Given the description of an element on the screen output the (x, y) to click on. 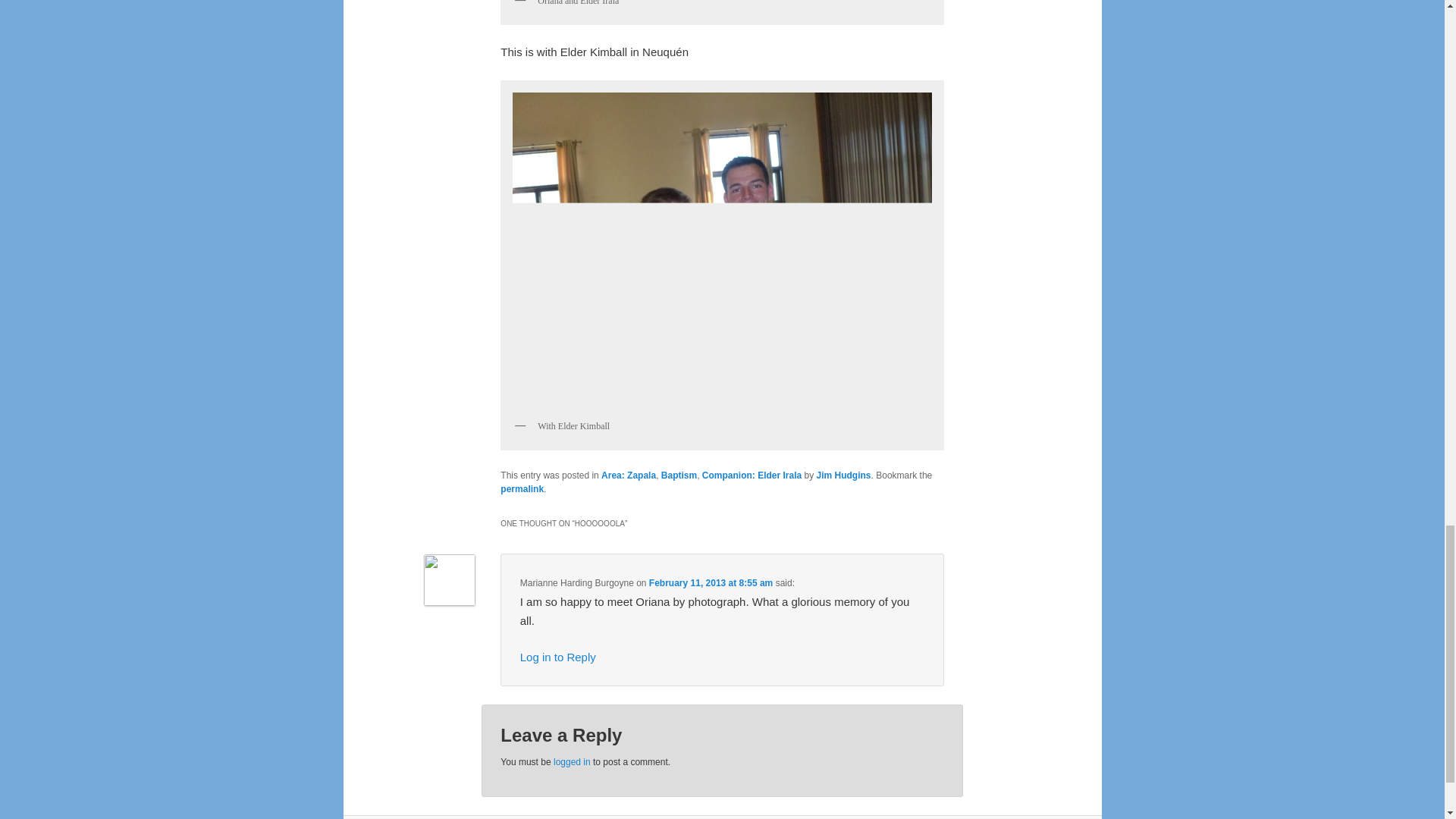
permalink (521, 489)
Permalink to hoooooola (521, 489)
February 11, 2013 at 8:55 am (711, 583)
logged in (572, 761)
Log in to Reply (557, 656)
Baptism (679, 475)
Jim Hudgins (843, 475)
Companion: Elder Irala (751, 475)
Area: Zapala (628, 475)
